Given the description of an element on the screen output the (x, y) to click on. 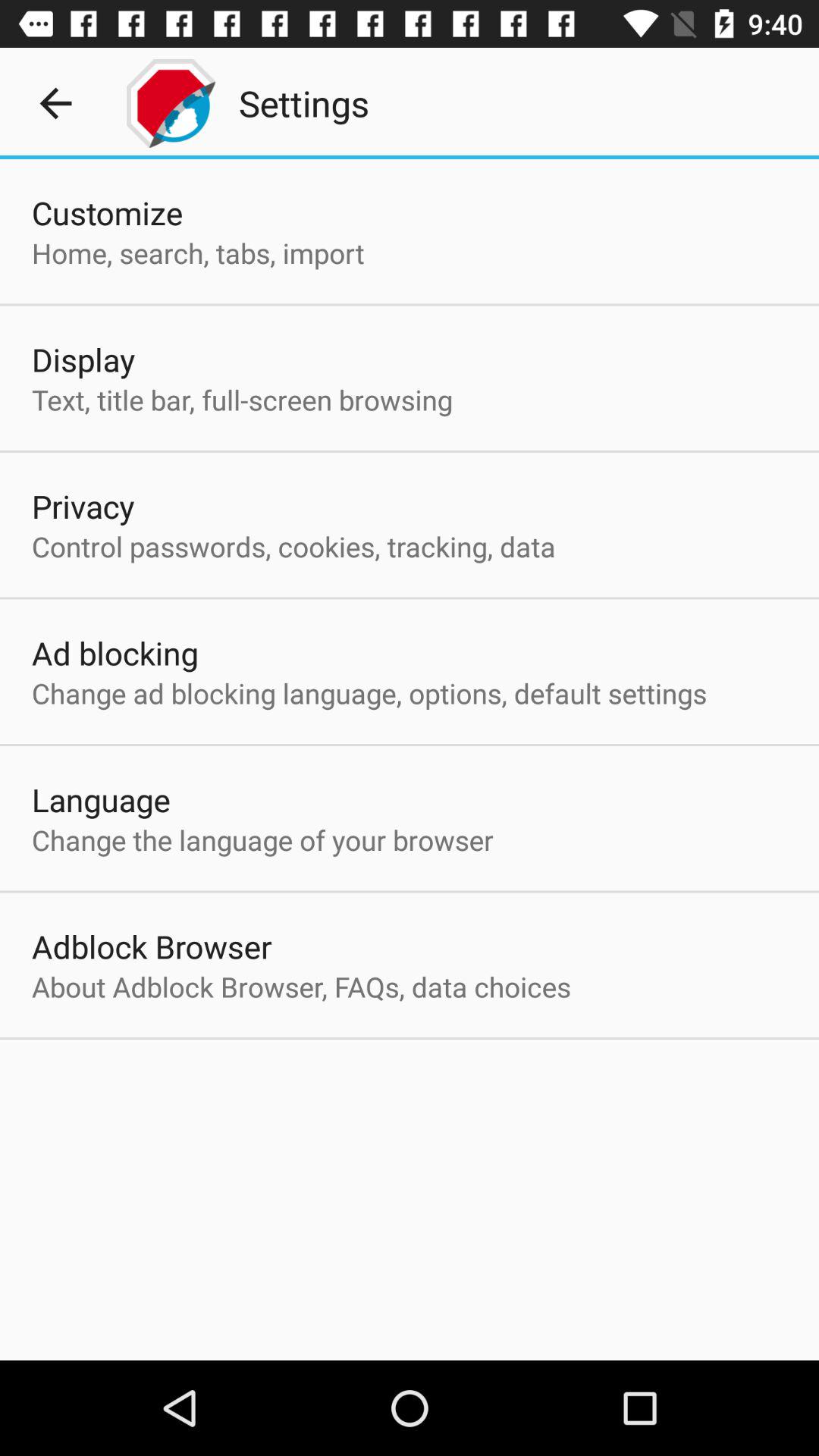
jump until the customize app (107, 212)
